Given the description of an element on the screen output the (x, y) to click on. 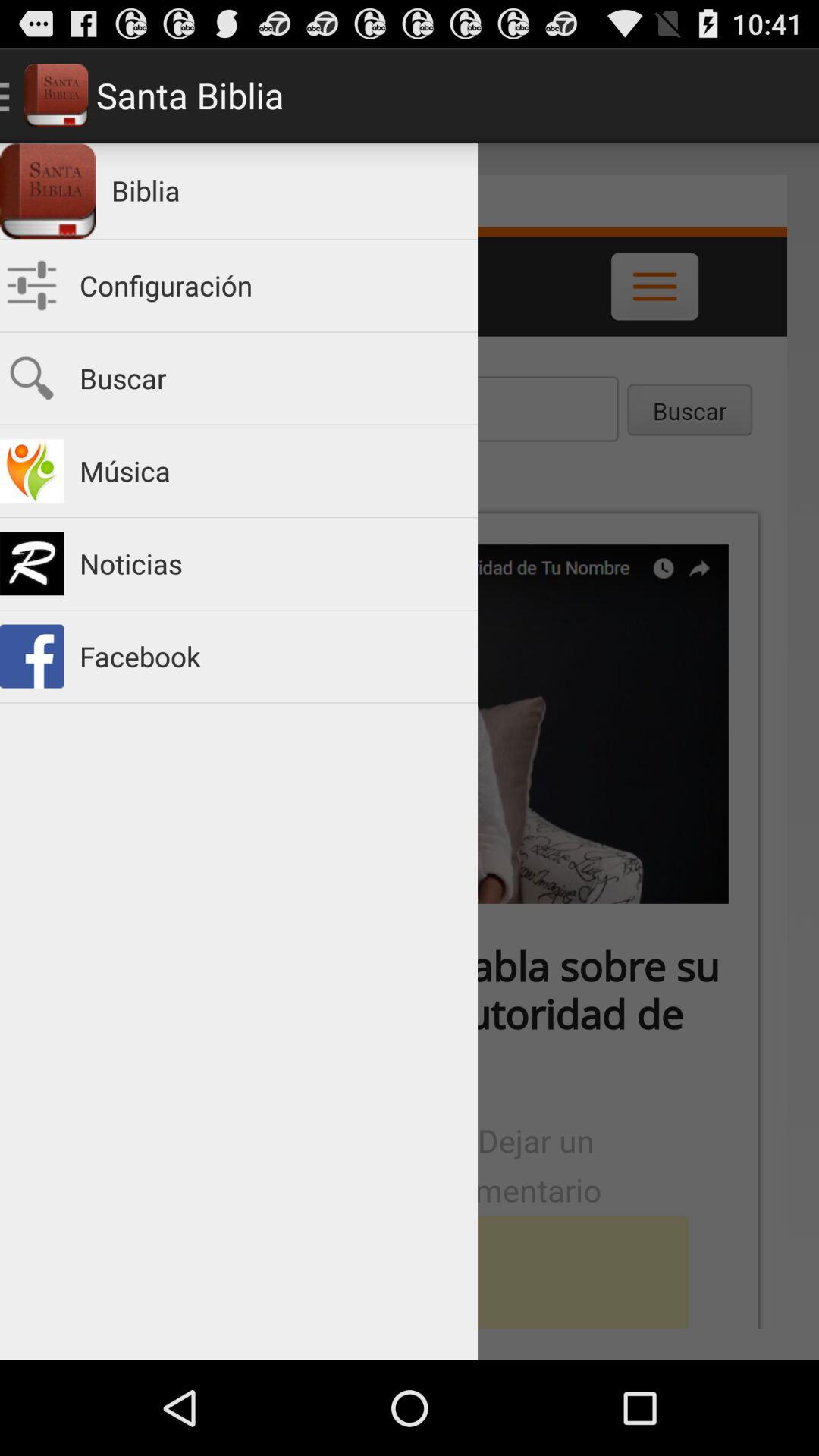
tap item above the noticias app (270, 471)
